Given the description of an element on the screen output the (x, y) to click on. 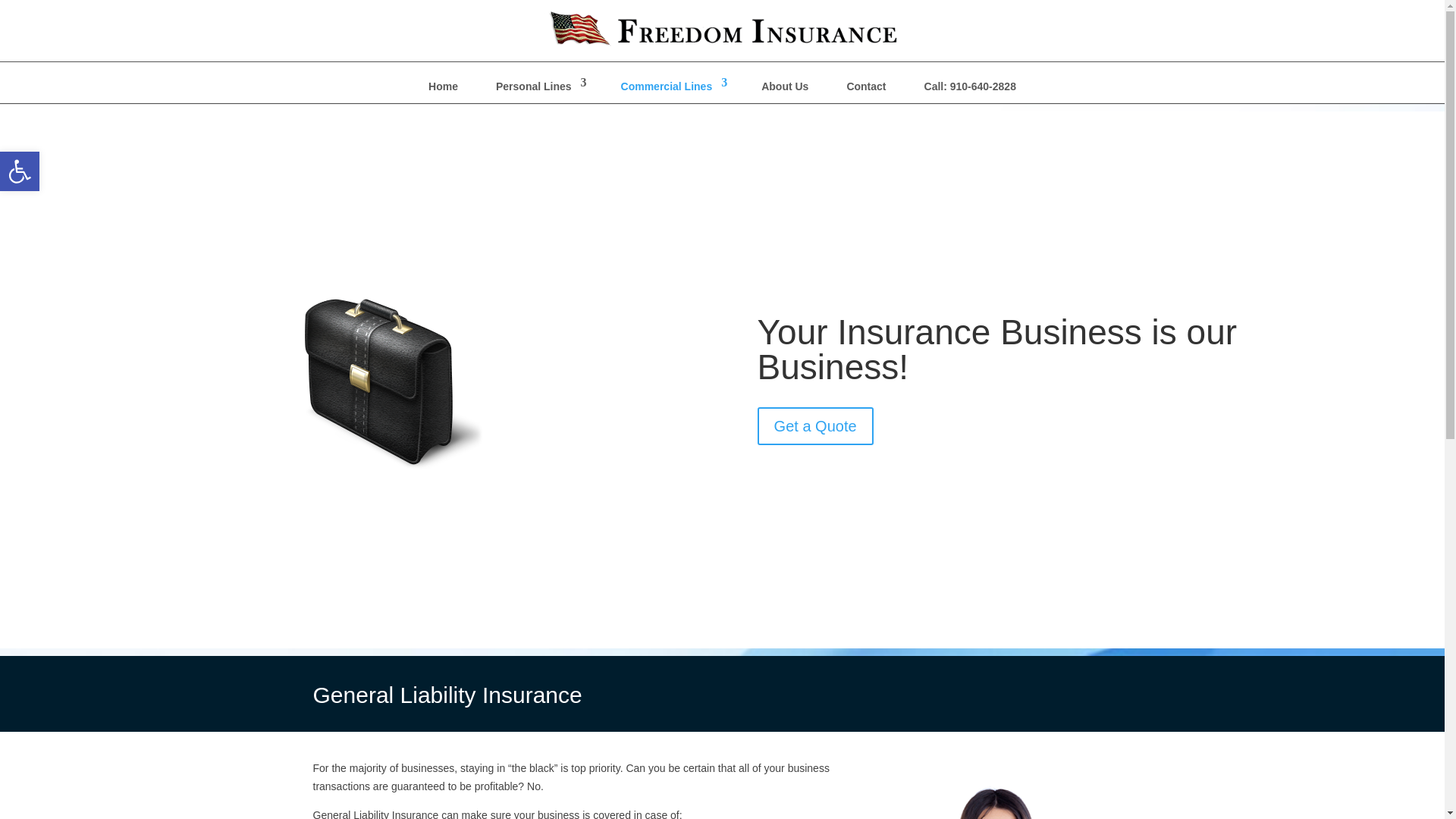
About Us (784, 89)
Call: 910-640-2828 (970, 89)
Accessibility Tools (19, 170)
Get a Quote (19, 170)
Personal Lines (815, 426)
Contact (539, 89)
Commercial Lines (866, 89)
Home (672, 89)
Accessibility Tools (443, 89)
Your Insurance Business is our Business! (19, 170)
